Given the description of an element on the screen output the (x, y) to click on. 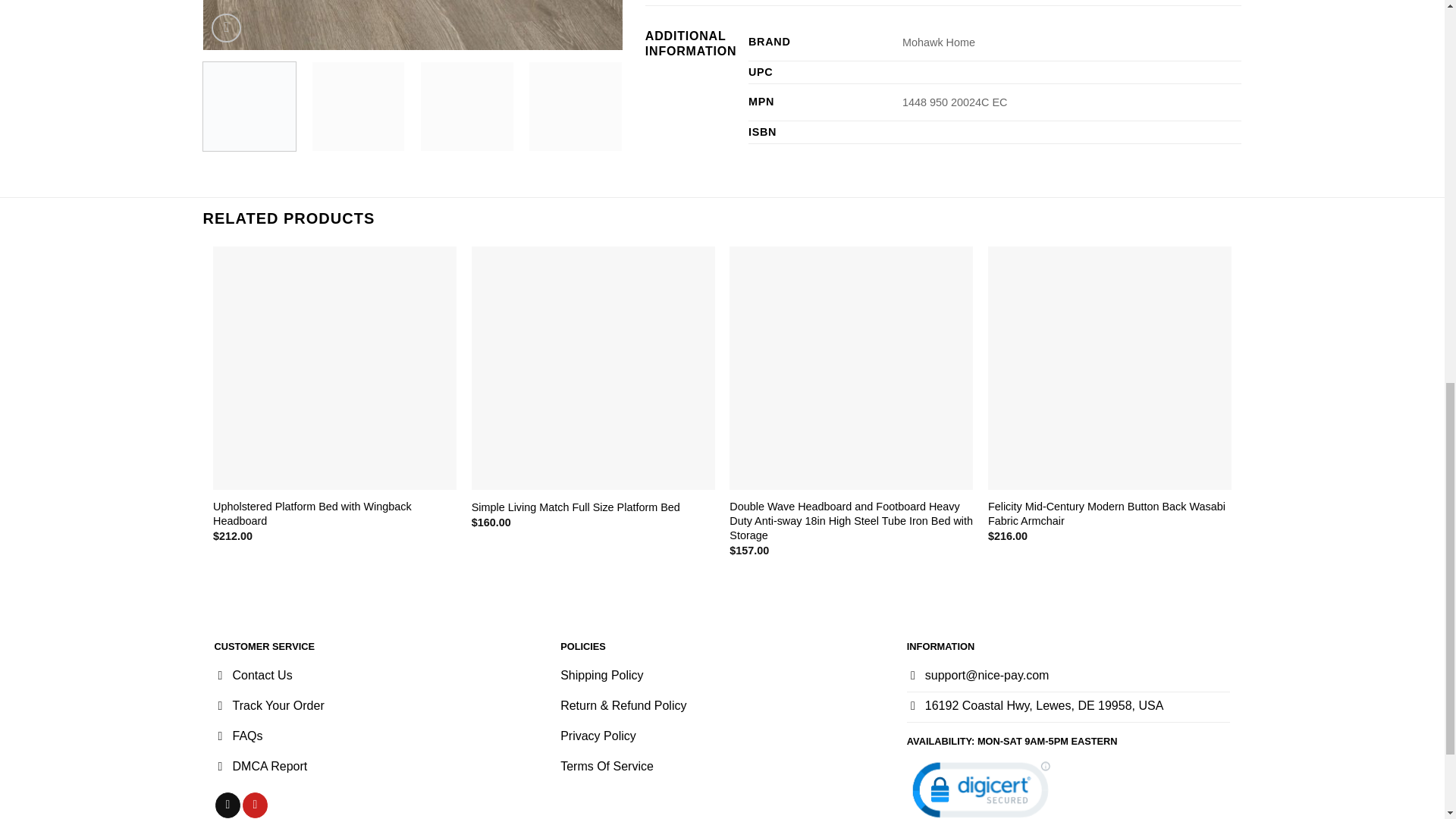
Follow on Pinterest (255, 805)
Follow on X (227, 805)
